Given the description of an element on the screen output the (x, y) to click on. 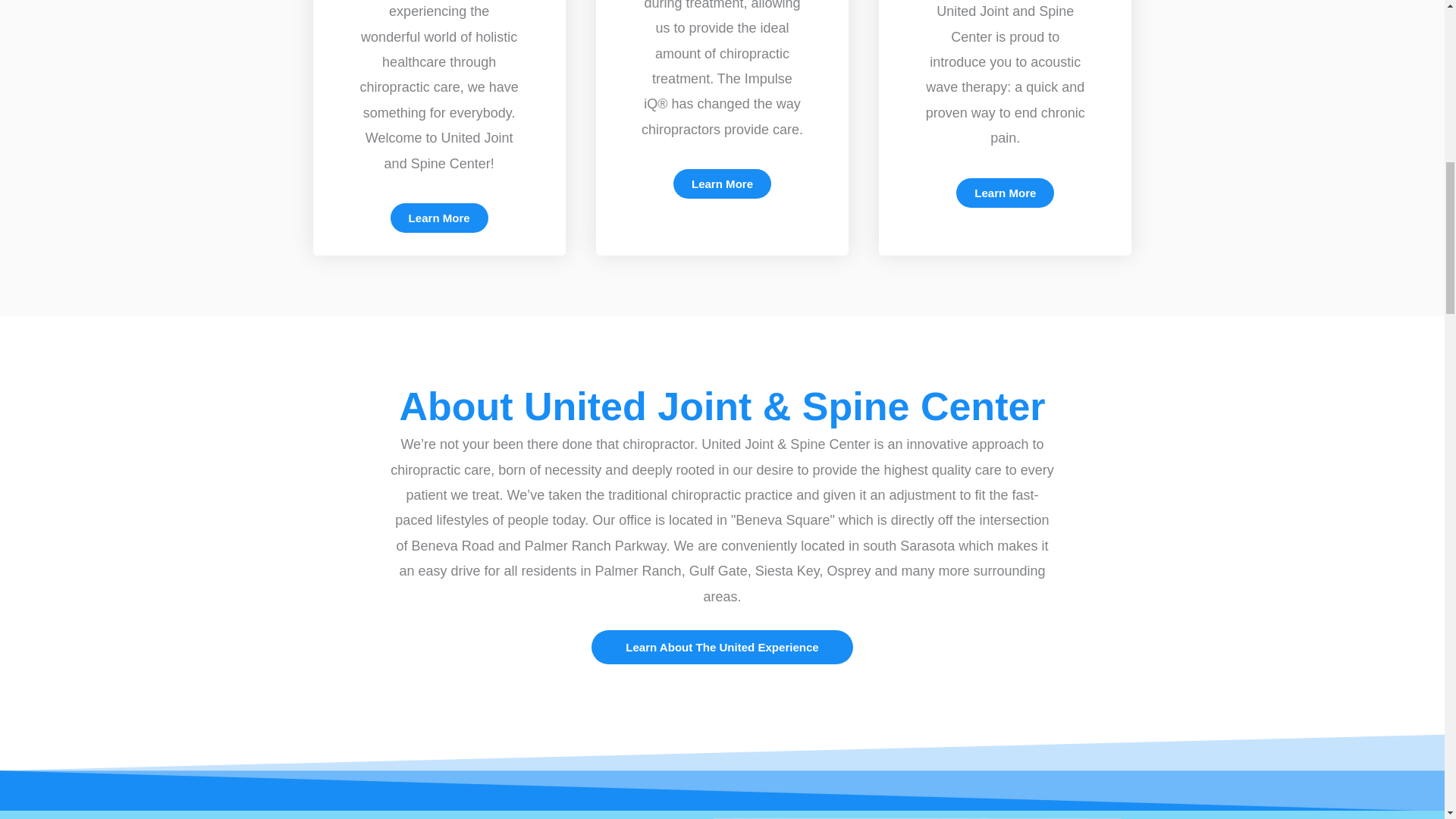
Learn More (721, 183)
Learn More (1005, 193)
Learn More (438, 217)
